Given the description of an element on the screen output the (x, y) to click on. 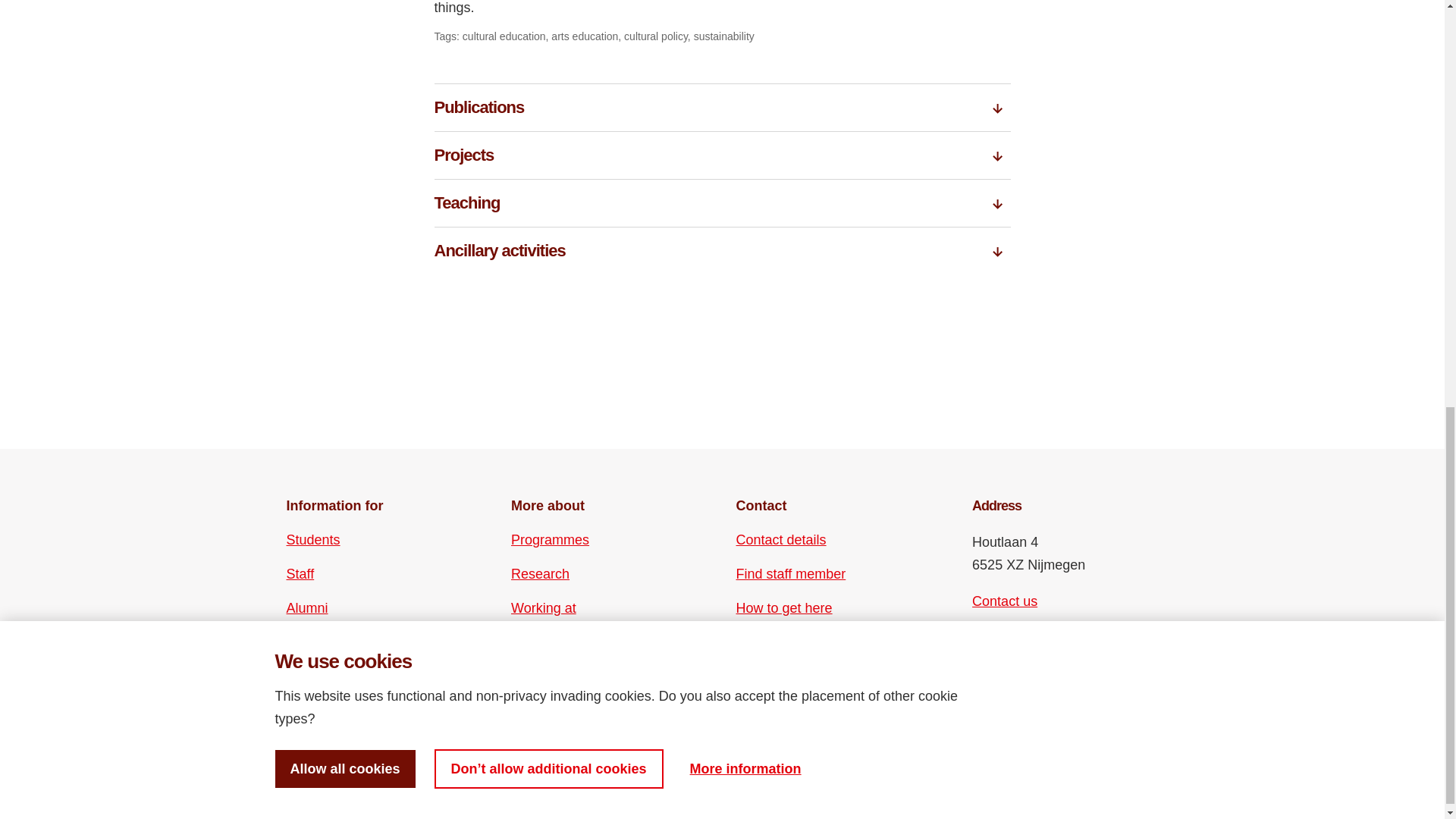
Facebook (983, 646)
SnapChat (1062, 672)
TikTok (1036, 672)
Instagram (1010, 646)
Mastodon (1062, 646)
LinkedIn (1036, 646)
YouTube (1010, 672)
Information about our campus and how to get here (784, 608)
X (983, 672)
